Given the description of an element on the screen output the (x, y) to click on. 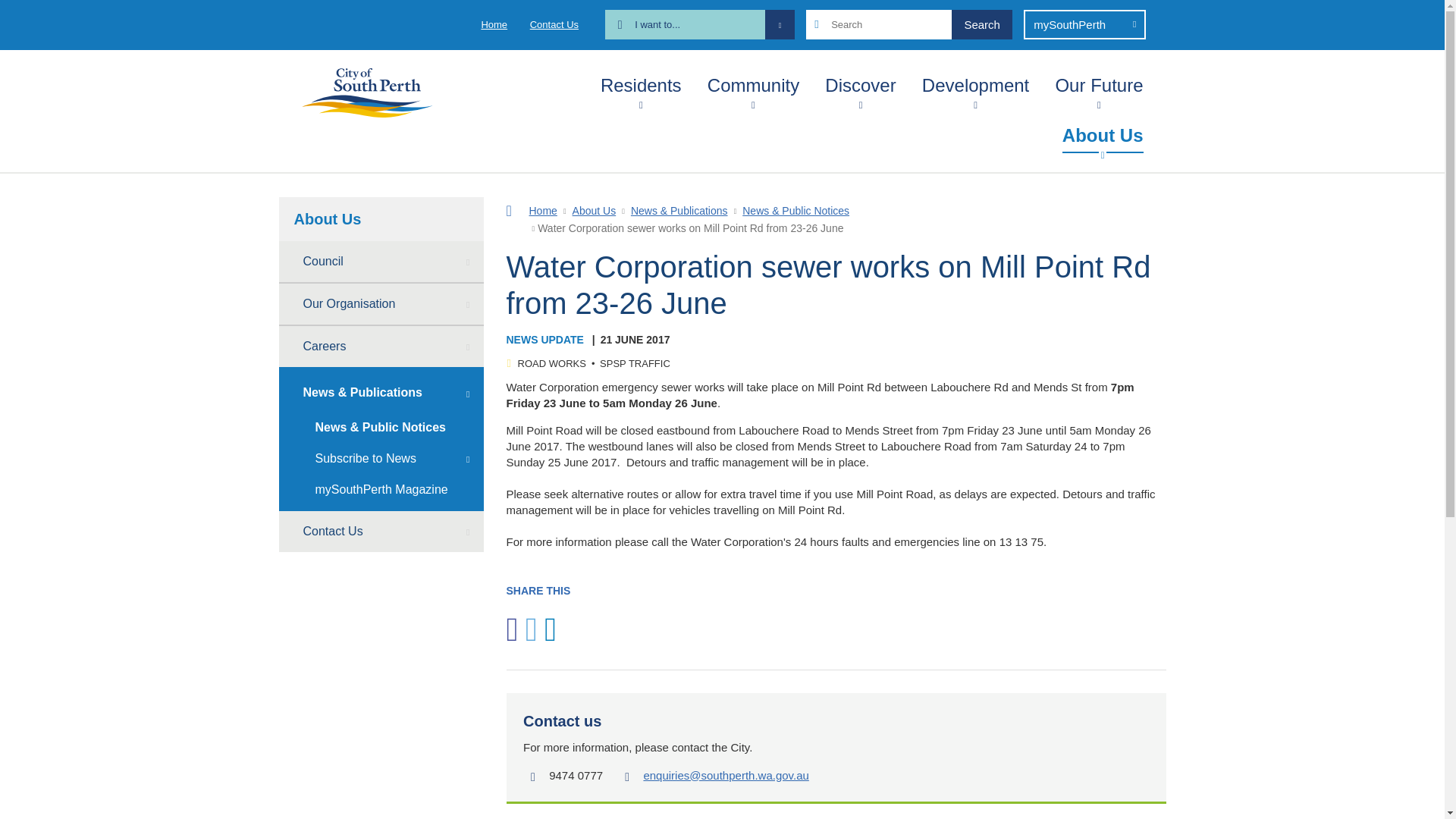
Contact Us (553, 24)
Search input (908, 24)
Home (493, 24)
Search (981, 24)
Residents (640, 82)
mySouthPerth (1084, 24)
